Given the description of an element on the screen output the (x, y) to click on. 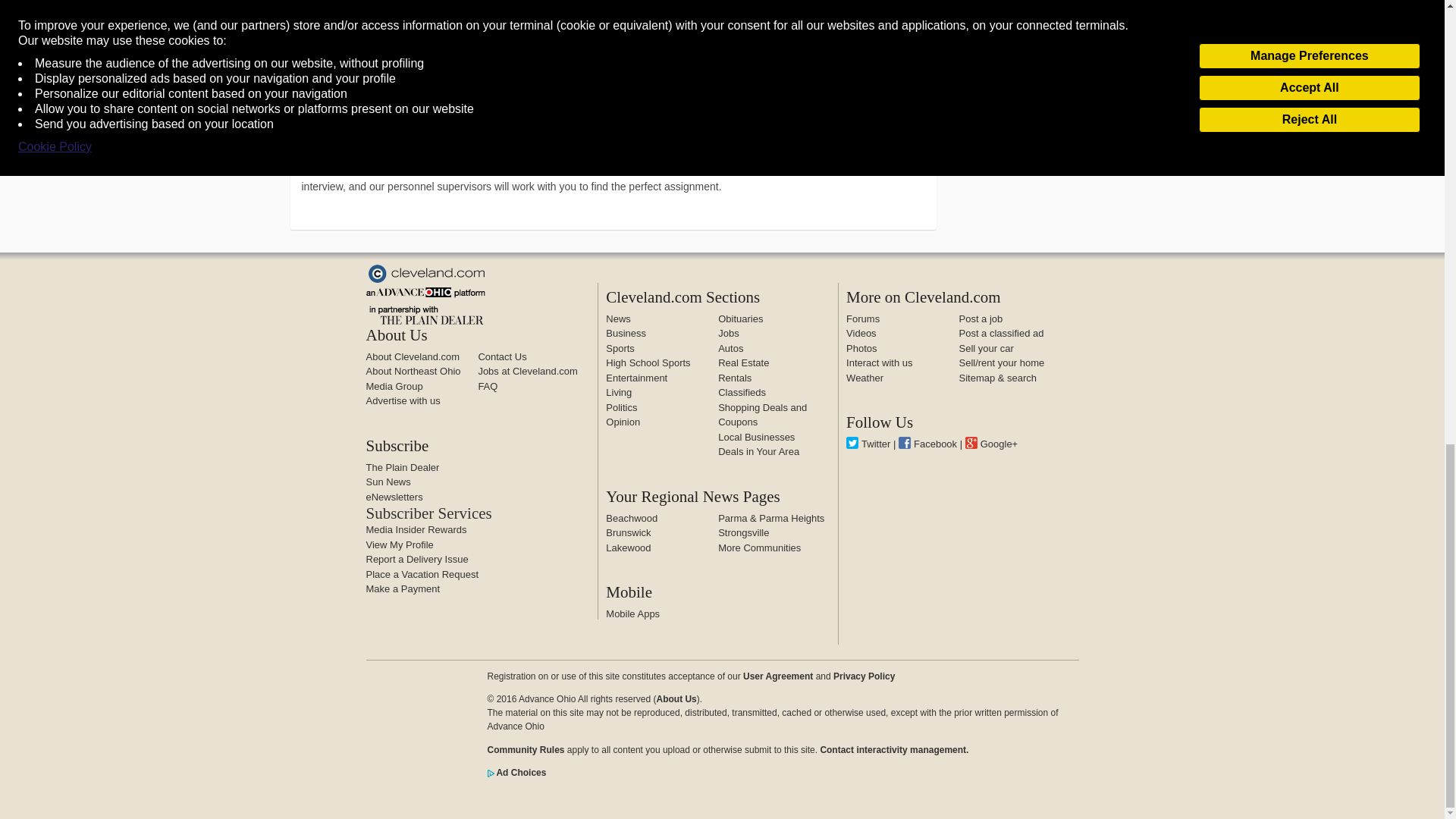
FAQ (487, 386)
Community Rules (893, 749)
Contact Us (501, 356)
Community Rules (525, 749)
User Agreement (777, 675)
Privacy Policy (863, 675)
